Given the description of an element on the screen output the (x, y) to click on. 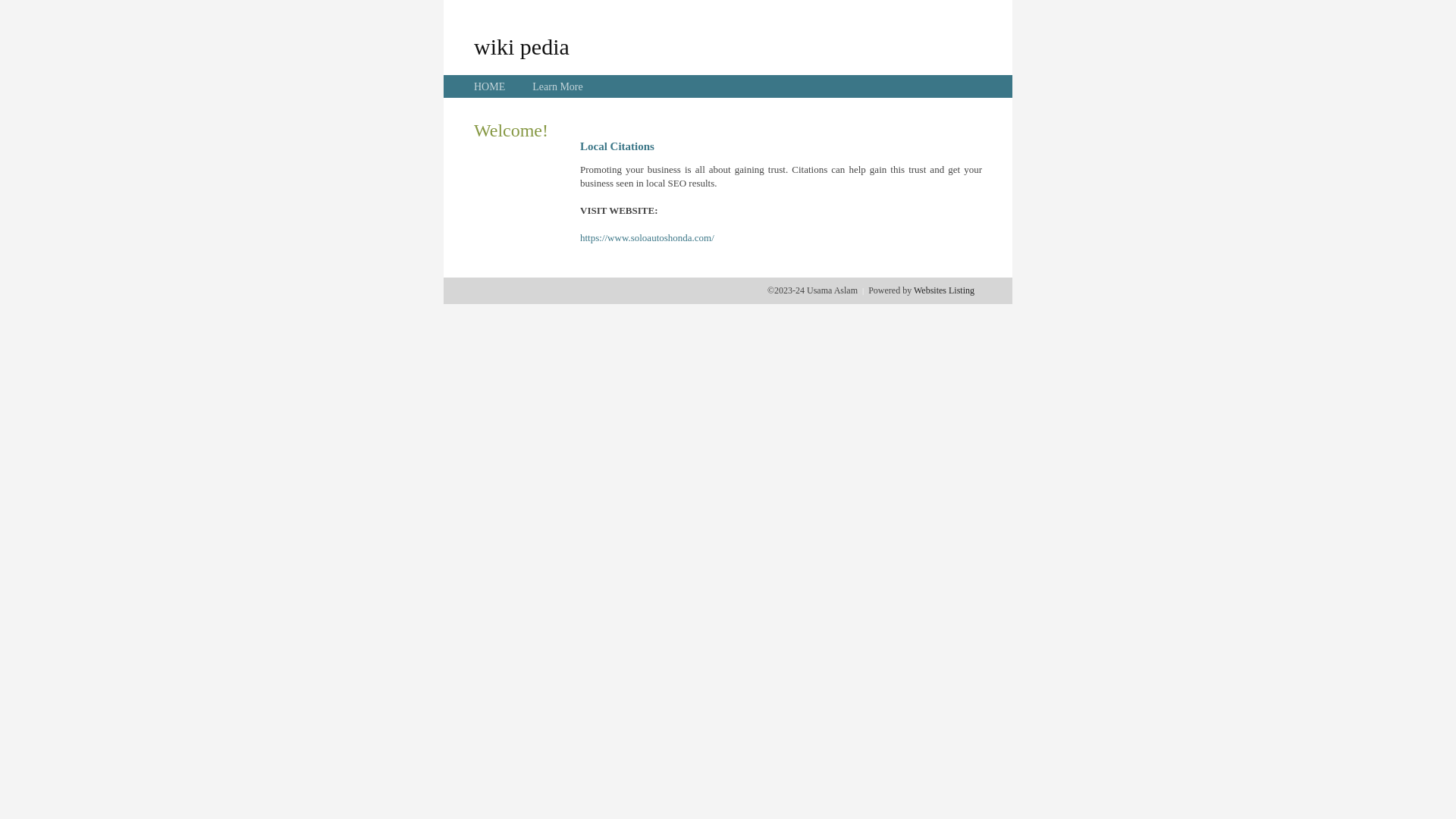
Websites Listing Element type: text (943, 290)
https://www.soloautoshonda.com/ Element type: text (647, 237)
HOME Element type: text (489, 86)
Learn More Element type: text (557, 86)
wiki pedia Element type: text (521, 46)
